Given the description of an element on the screen output the (x, y) to click on. 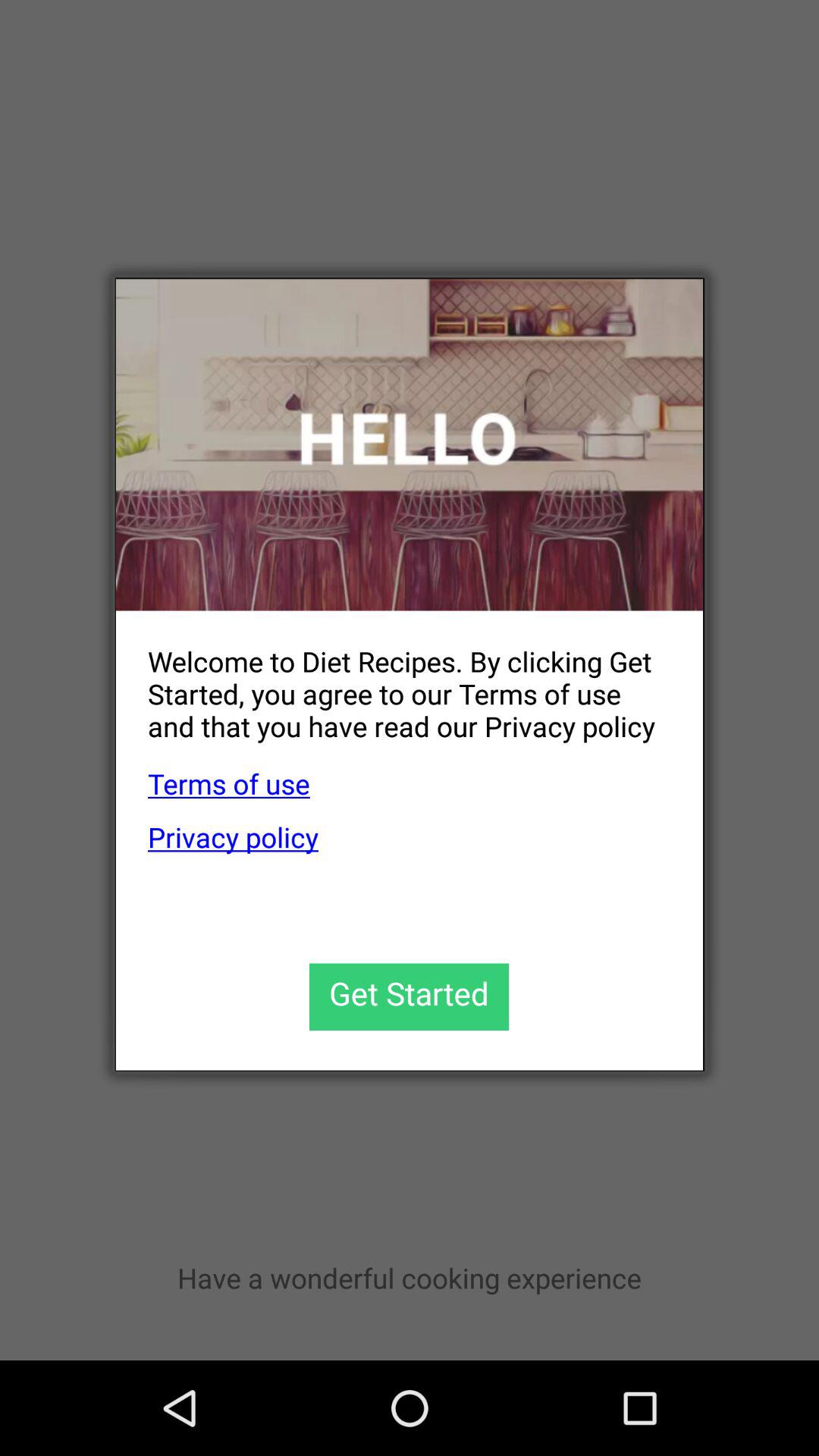
get started (409, 996)
